Given the description of an element on the screen output the (x, y) to click on. 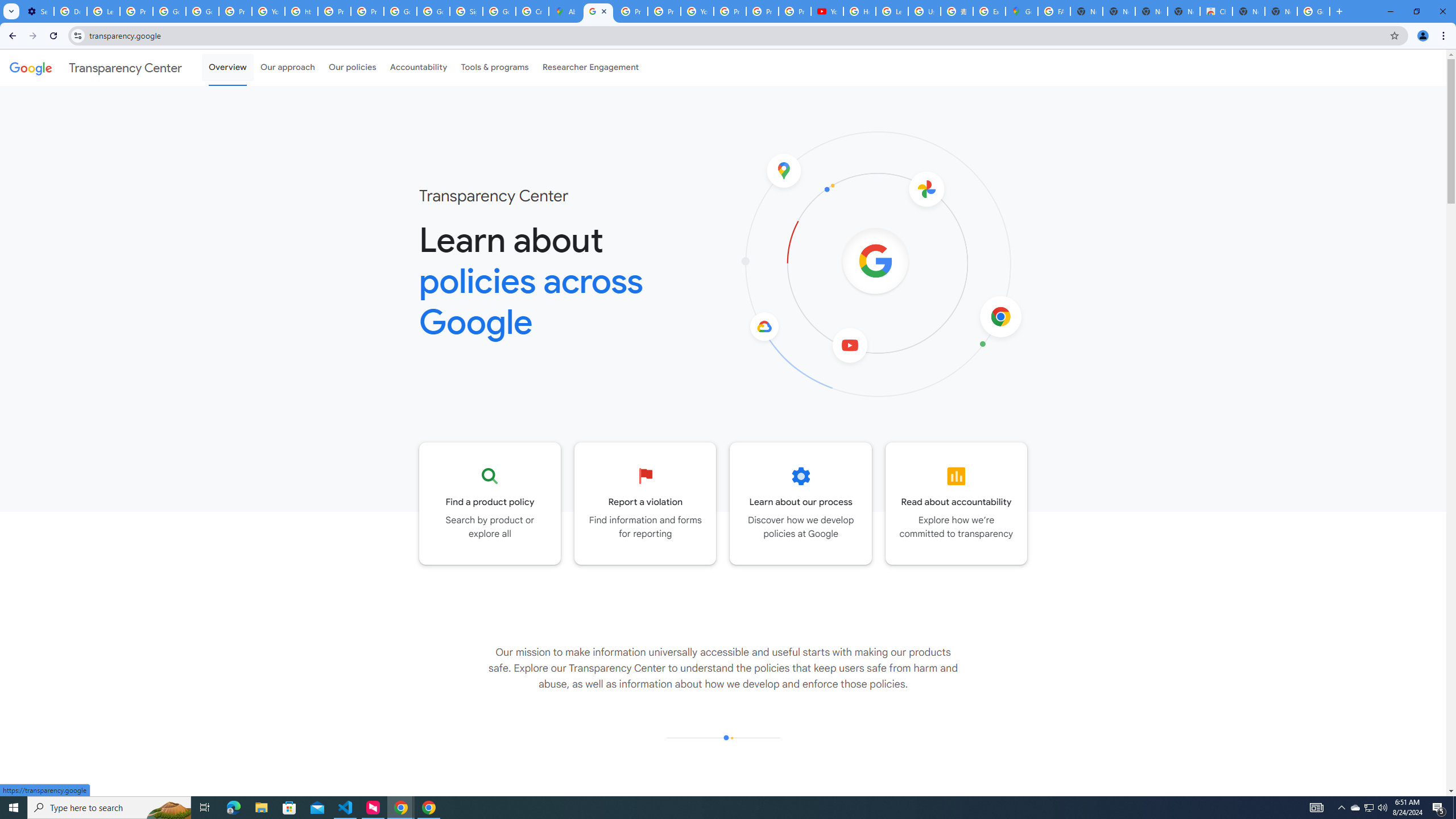
New Tab (1281, 11)
Privacy Help Center - Policies Help (663, 11)
Transparency Center (95, 67)
Researcher Engagement (590, 67)
Privacy Checkup (794, 11)
Google Images (1313, 11)
Go to the Accountability page (956, 503)
